Given the description of an element on the screen output the (x, y) to click on. 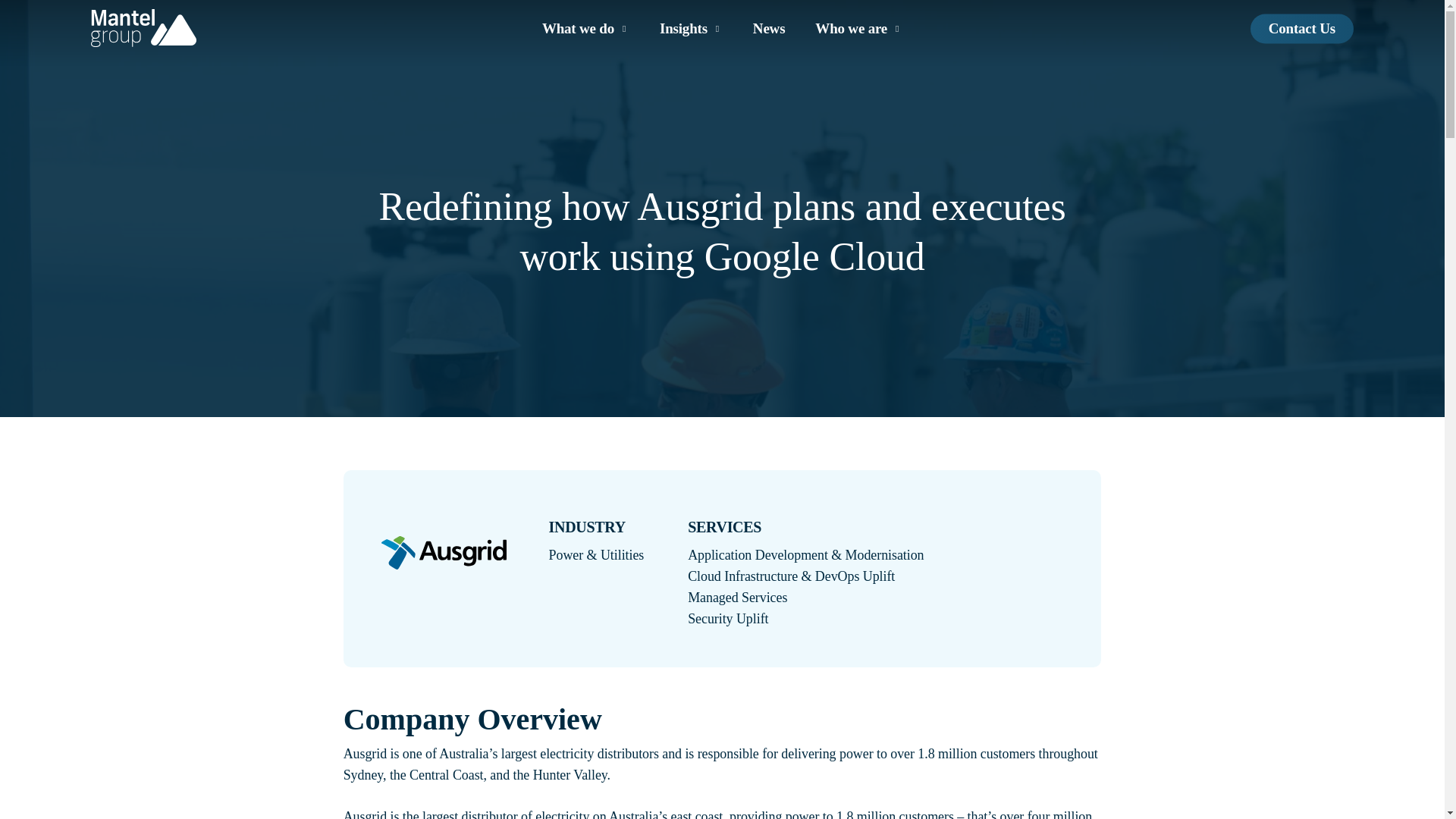
What we do (584, 28)
Contact Us (1302, 28)
Who we are (858, 28)
Insights (690, 28)
News (768, 28)
